Given the description of an element on the screen output the (x, y) to click on. 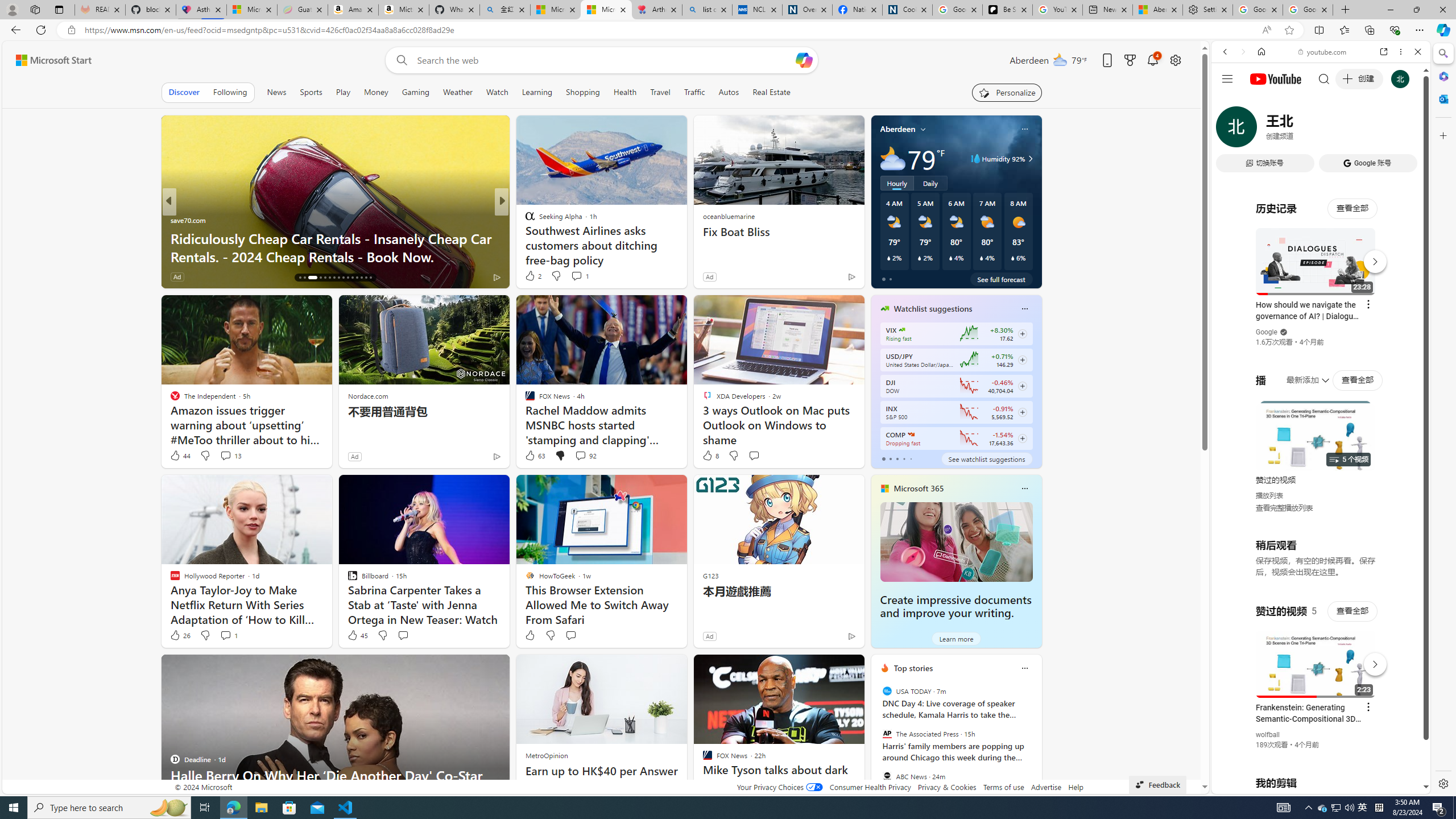
View comments 4 Comment (583, 276)
USA TODAY (886, 691)
ABC News (886, 775)
See watchlist suggestions (986, 459)
Mostly cloudy (892, 158)
20 Like (530, 276)
Global web icon (1232, 655)
2 Like (532, 275)
Marie Claire UK (174, 219)
Actions for this site (1371, 661)
youtube.com (1322, 51)
